Given the description of an element on the screen output the (x, y) to click on. 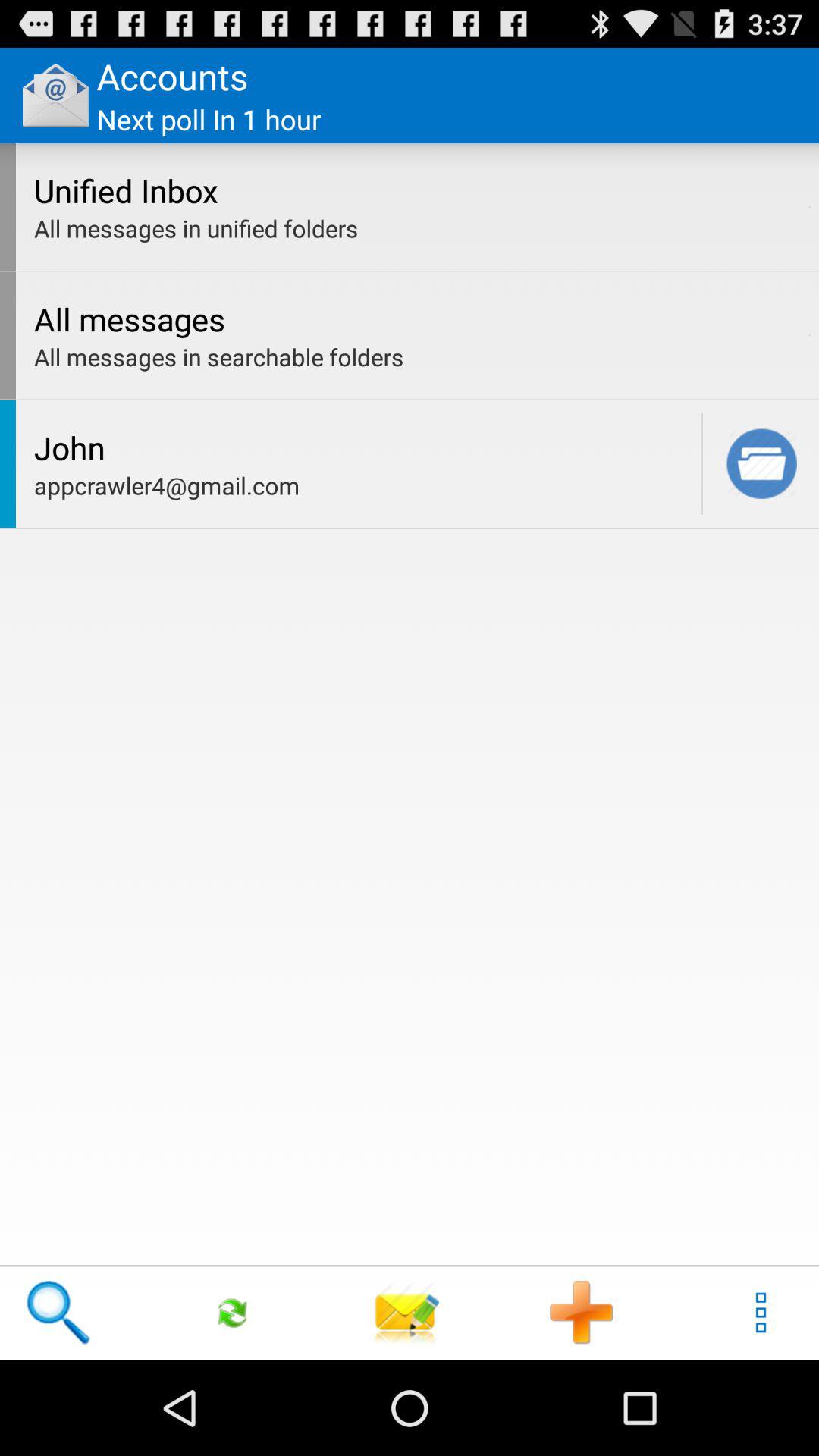
choose the app above the all messages in app (809, 335)
